Given the description of an element on the screen output the (x, y) to click on. 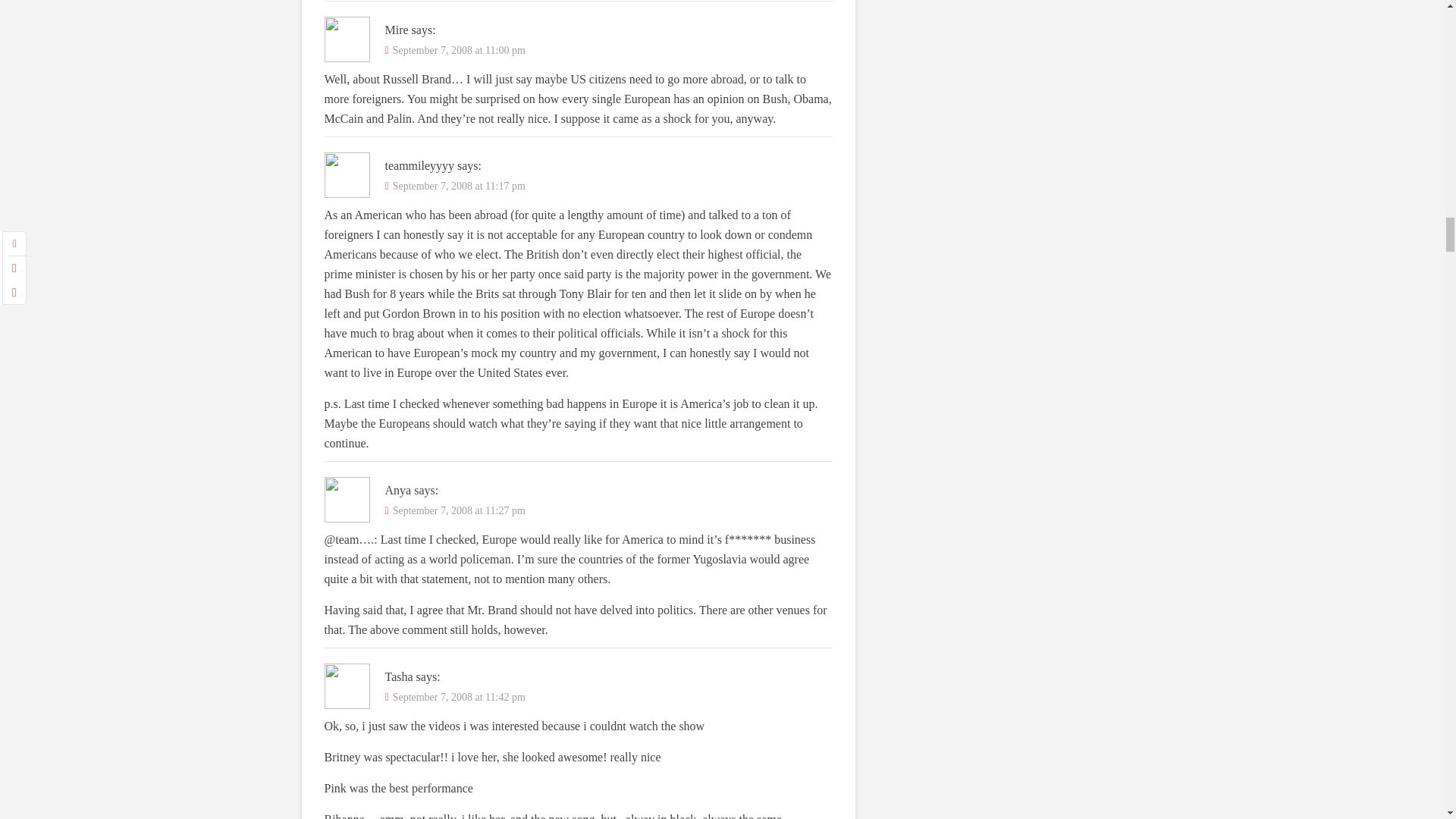
September 7, 2008 at 11:42 pm (459, 696)
September 7, 2008 at 11:27 pm (459, 510)
September 7, 2008 at 11:00 pm (459, 50)
September 7, 2008 at 11:17 pm (459, 185)
